Given the description of an element on the screen output the (x, y) to click on. 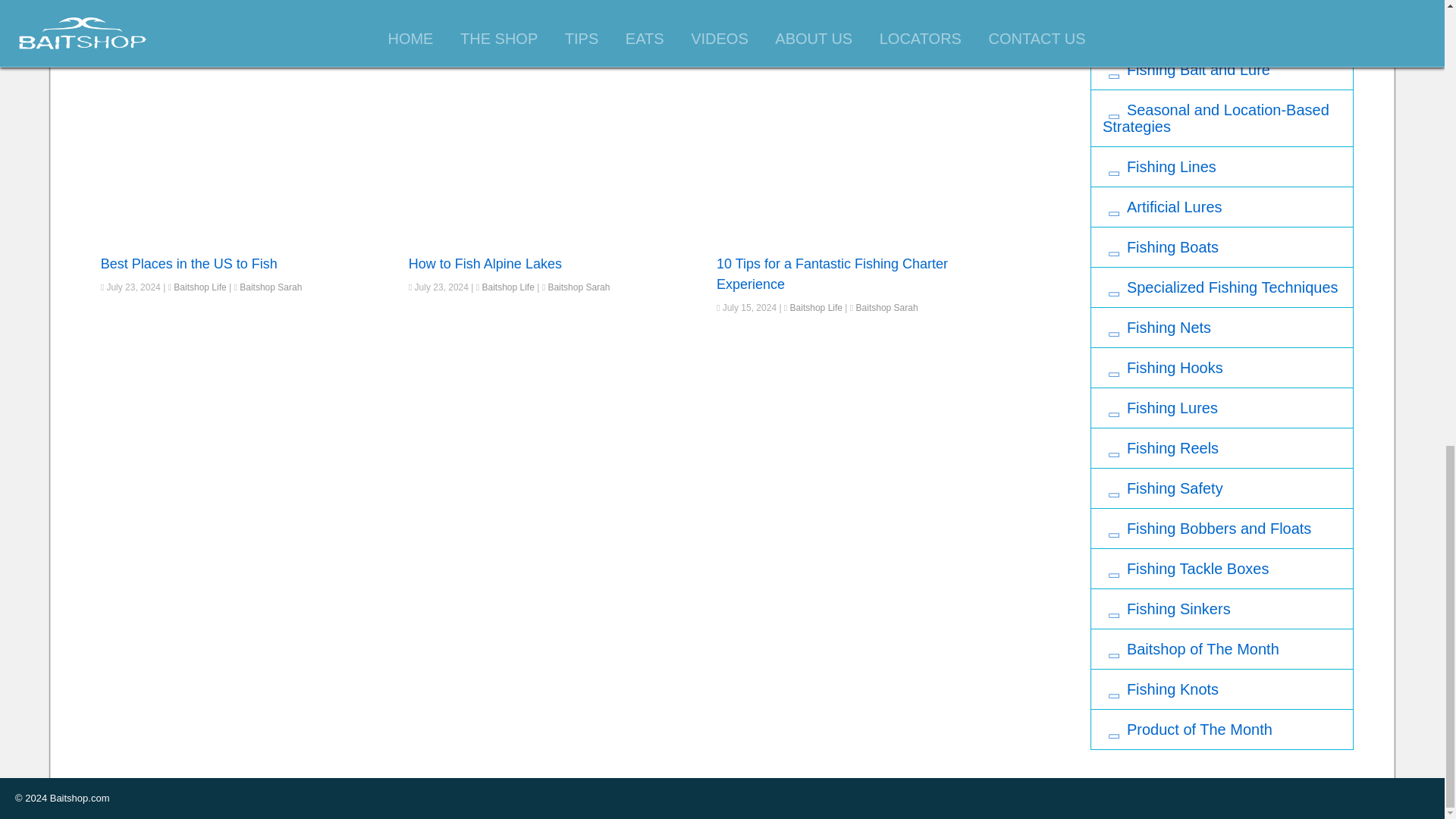
Baitshop Brandy (580, 9)
Is the Ultimate Fly Fishing Challenge the Bumpie? (223, 7)
Baitshop Life (507, 9)
View all posts by Baitshop Garrett (888, 9)
View all posts by Baitshop Brandy (580, 9)
View all posts by Baitshop Rob (267, 30)
View all posts by Baitshop Sarah (578, 286)
View all posts by Baitshop Sarah (270, 286)
Baitshop Rob (267, 30)
Baitshop Life (199, 30)
View all posts by Baitshop Sarah (887, 307)
